Given the description of an element on the screen output the (x, y) to click on. 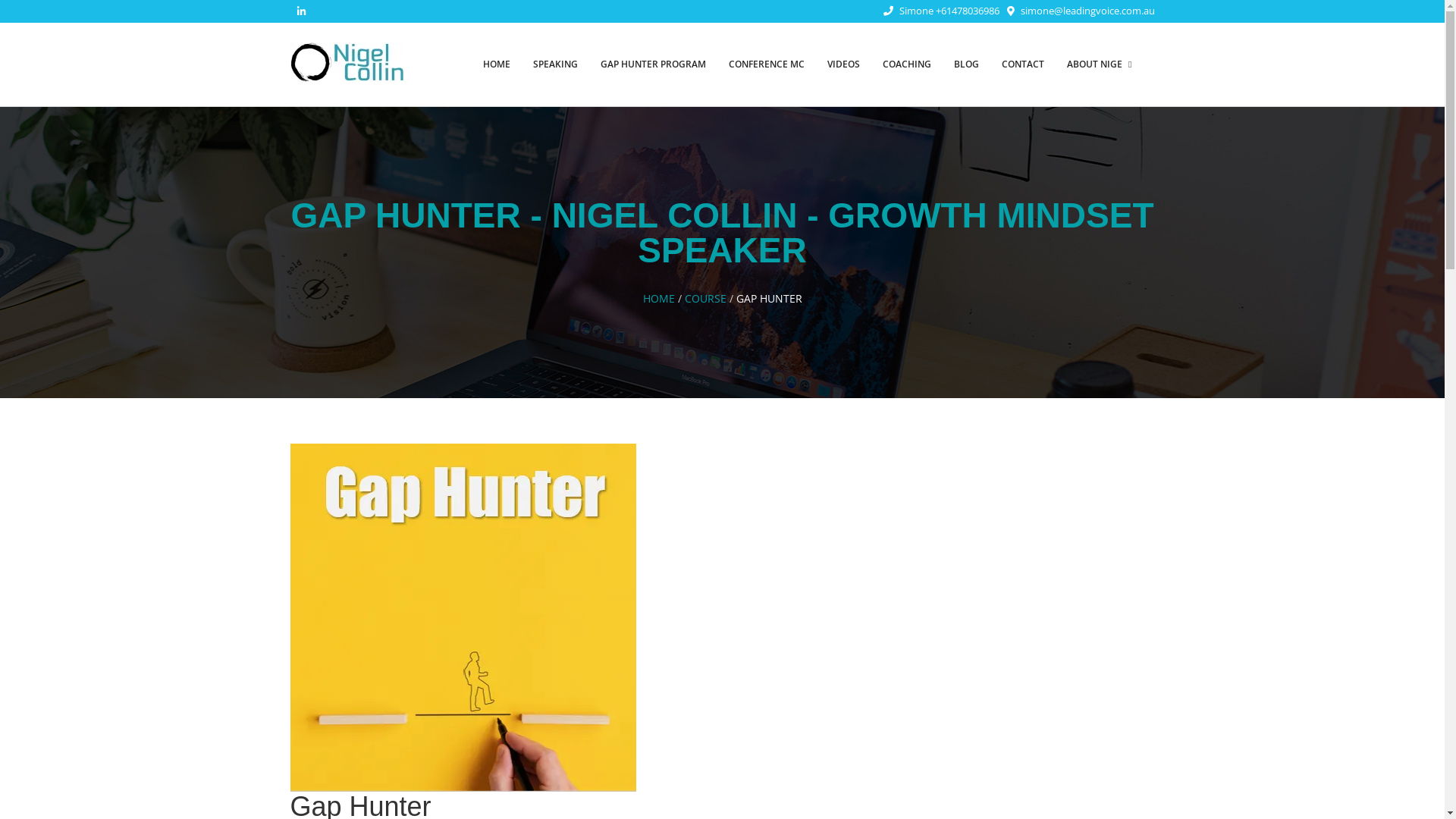
CONFERENCE MC Element type: text (766, 64)
COACHING Element type: text (906, 64)
ABOUT NIGE Element type: text (1098, 64)
SPEAKING Element type: text (555, 64)
HOME Element type: text (658, 298)
VIDEOS Element type: text (843, 64)
GAP HUNTER PROGRAM Element type: text (653, 64)
CONTACT Element type: text (1022, 64)
COURSE Element type: text (704, 298)
HOME Element type: text (496, 64)
BLOG Element type: text (966, 64)
